Given the description of an element on the screen output the (x, y) to click on. 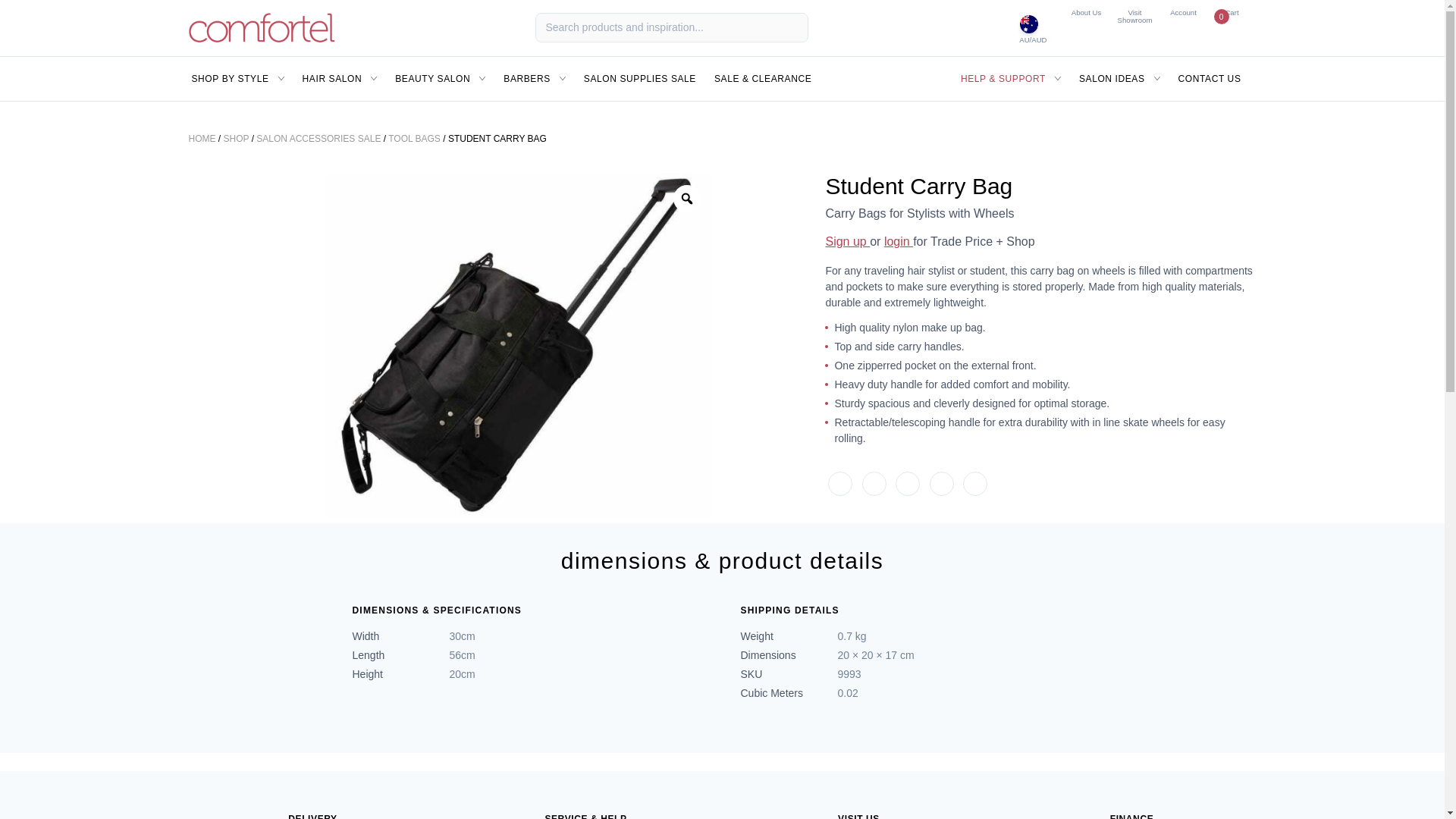
Share this (1230, 12)
BARBERS (974, 483)
SHOP BY STYLE (535, 78)
SALON SUPPLIES SALE (237, 78)
BEAUTY SALON (639, 78)
Share this (440, 78)
Account (873, 483)
Share this (1182, 12)
SALON IDEAS (907, 483)
About Us (1119, 78)
HAIR SALON (1085, 12)
Share this (340, 78)
Visit Showroom (941, 483)
CONTACT US (1134, 16)
